Given the description of an element on the screen output the (x, y) to click on. 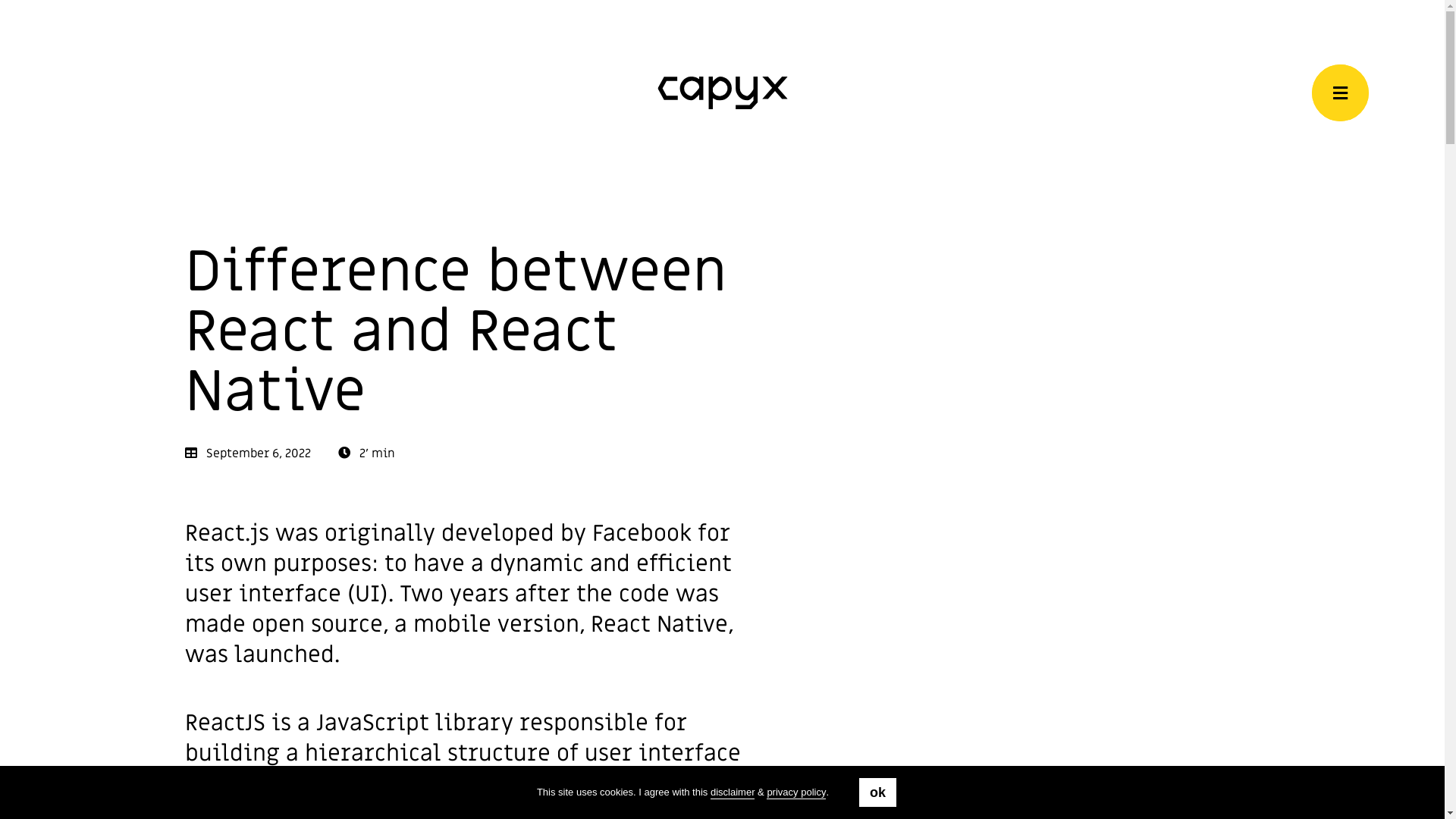
disclaimer Element type: text (732, 792)
ok Element type: text (877, 792)
privacy policy Element type: text (795, 792)
